Given the description of an element on the screen output the (x, y) to click on. 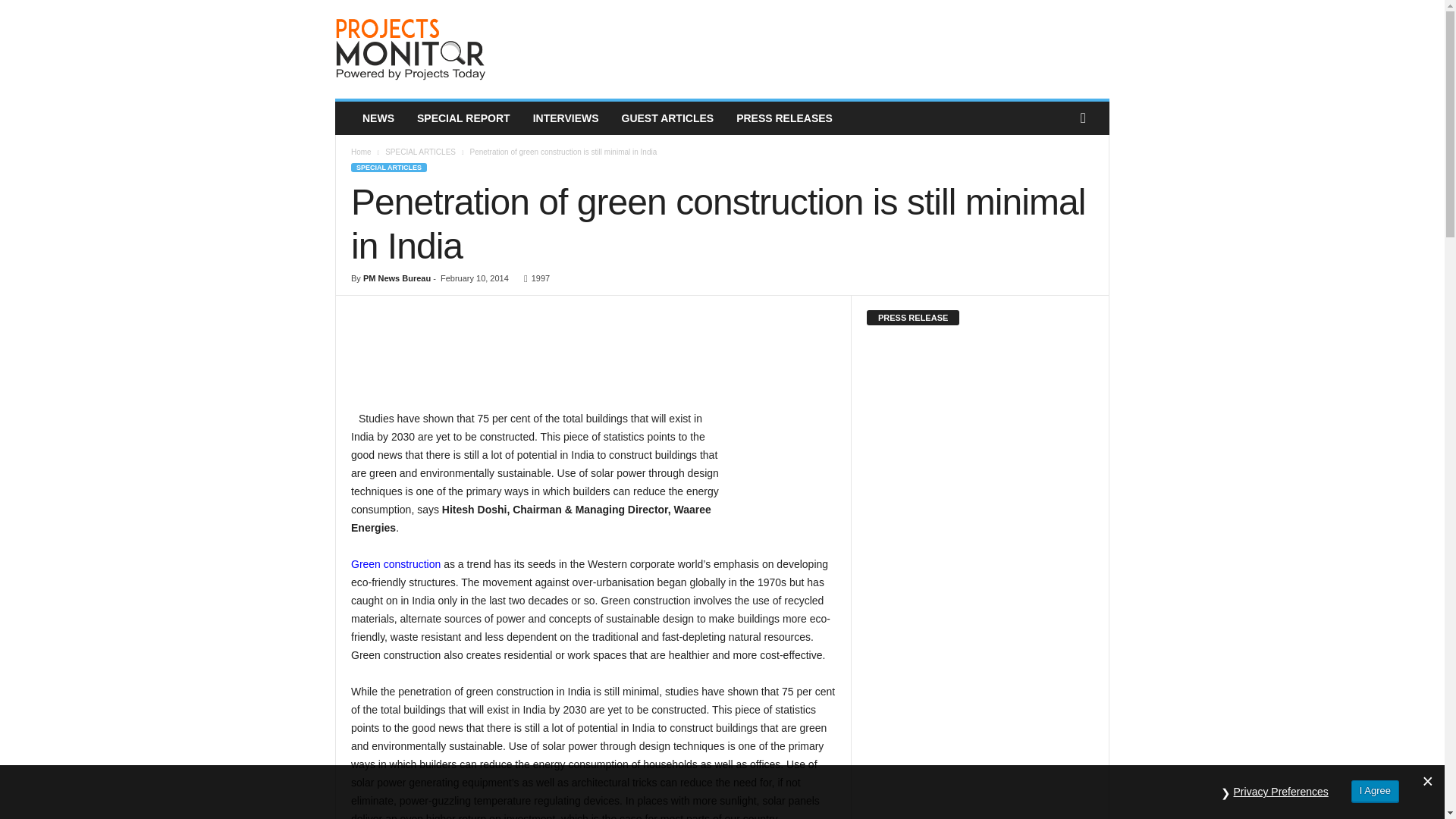
PRESS RELEASES (784, 118)
SPECIAL ARTICLES (388, 166)
SPECIAL REPORT (463, 118)
PM News Bureau (396, 277)
View all posts in SPECIAL ARTICLES (420, 152)
Green construction (395, 563)
INTERVIEWS (565, 118)
NEWS (378, 118)
SPECIAL ARTICLES (420, 152)
Home (360, 152)
India's first News Website on Projects Investment (437, 48)
GUEST ARTICLES (667, 118)
